Given the description of an element on the screen output the (x, y) to click on. 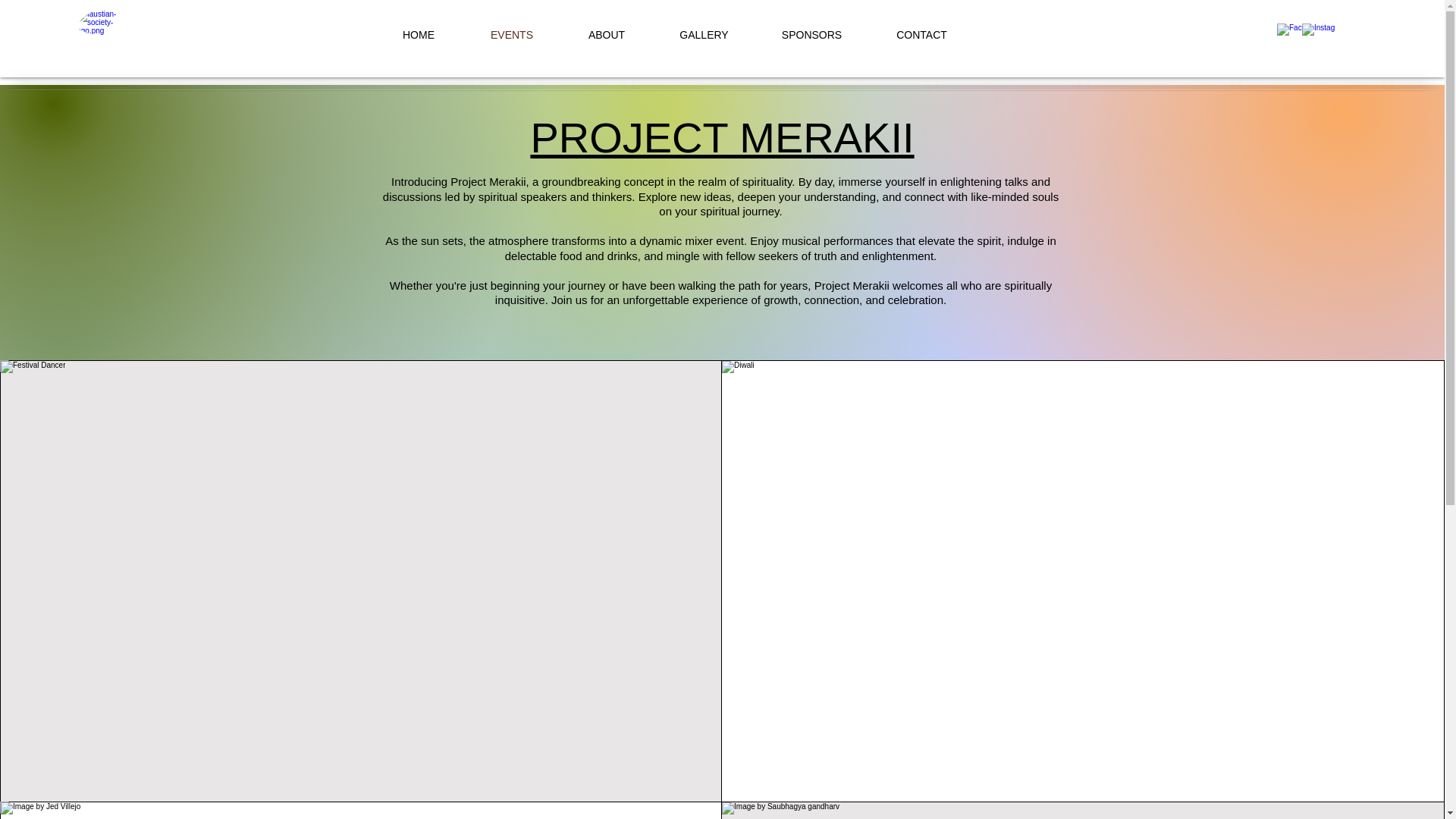
HOME (417, 34)
PROJECT MERAKII (721, 137)
SPONSORS (812, 34)
GALLERY (704, 34)
ABOUT (605, 34)
CONTACT (922, 34)
EVENTS (512, 34)
